Given the description of an element on the screen output the (x, y) to click on. 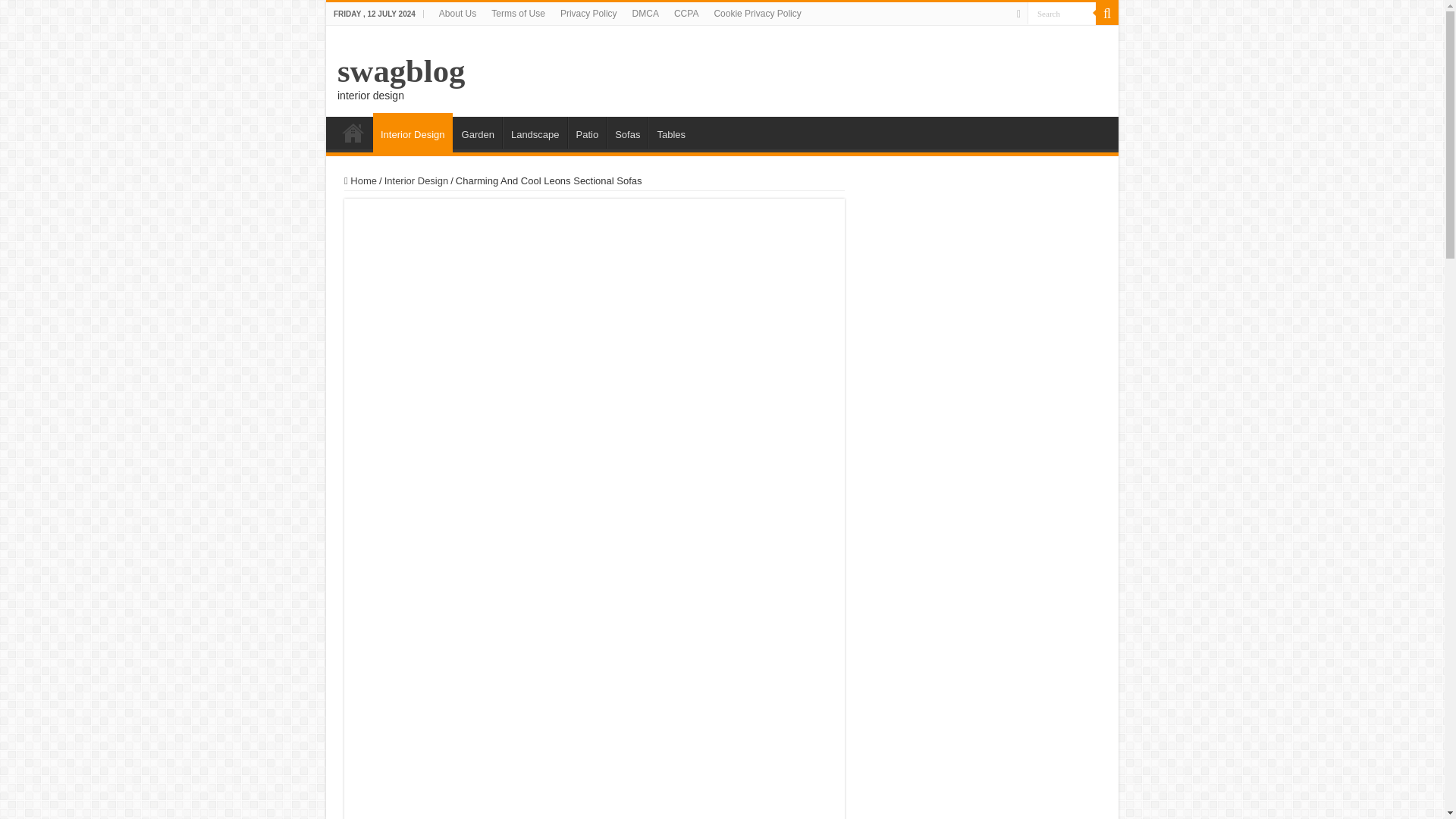
Search (1061, 13)
Interior Design (416, 180)
DMCA (645, 13)
Sofas (627, 132)
Advertisement (594, 757)
Interior Design (412, 132)
Search (1061, 13)
CCPA (686, 13)
swagblog (400, 70)
Patio (587, 132)
